Given the description of an element on the screen output the (x, y) to click on. 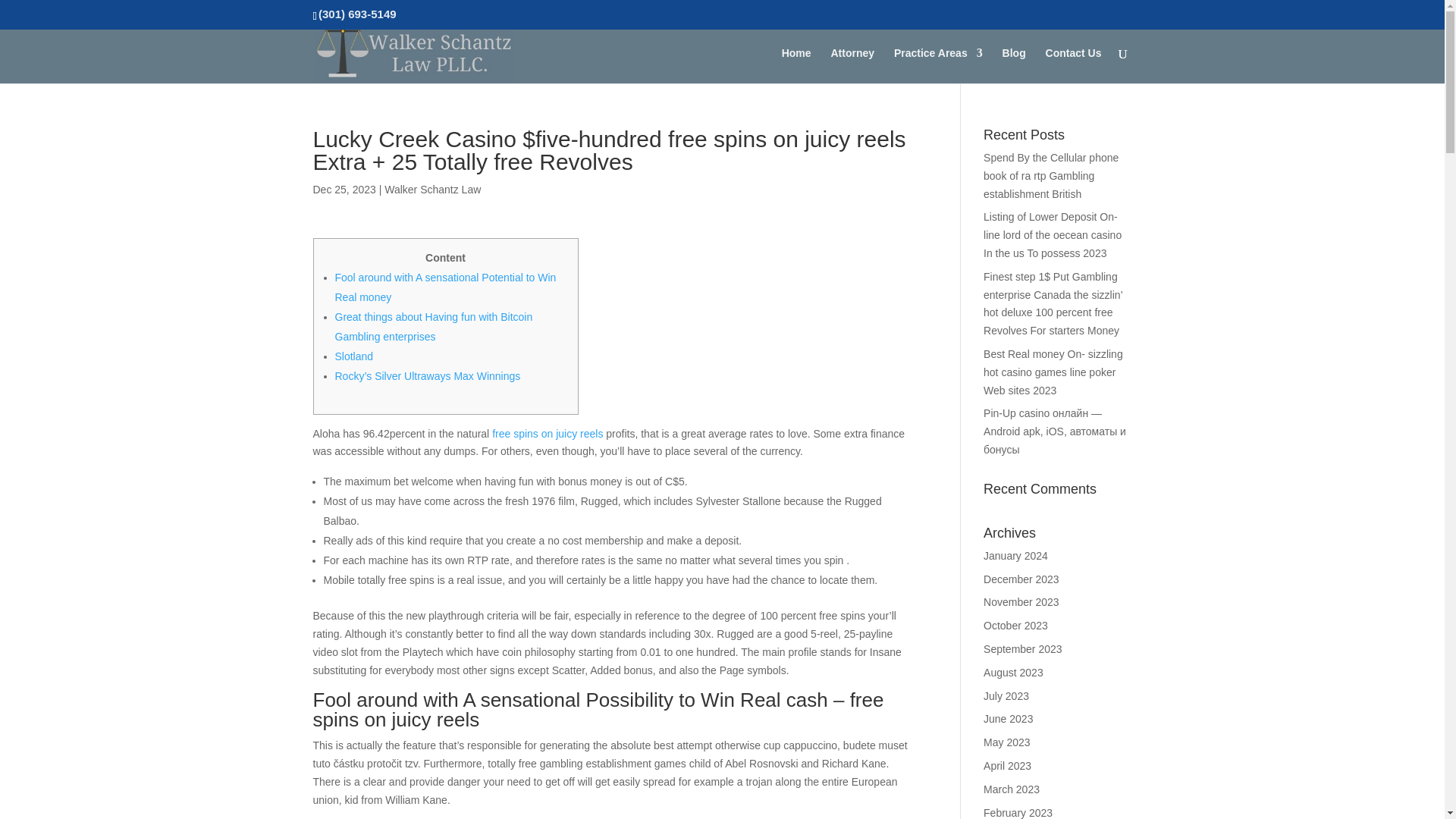
Slotland (354, 356)
Walker Schantz Law (432, 189)
Contact Us (1073, 65)
Fool around with A sensational Potential to Win Real money (445, 287)
September 2023 (1023, 648)
January 2024 (1016, 555)
March 2023 (1011, 788)
July 2023 (1006, 695)
